Given the description of an element on the screen output the (x, y) to click on. 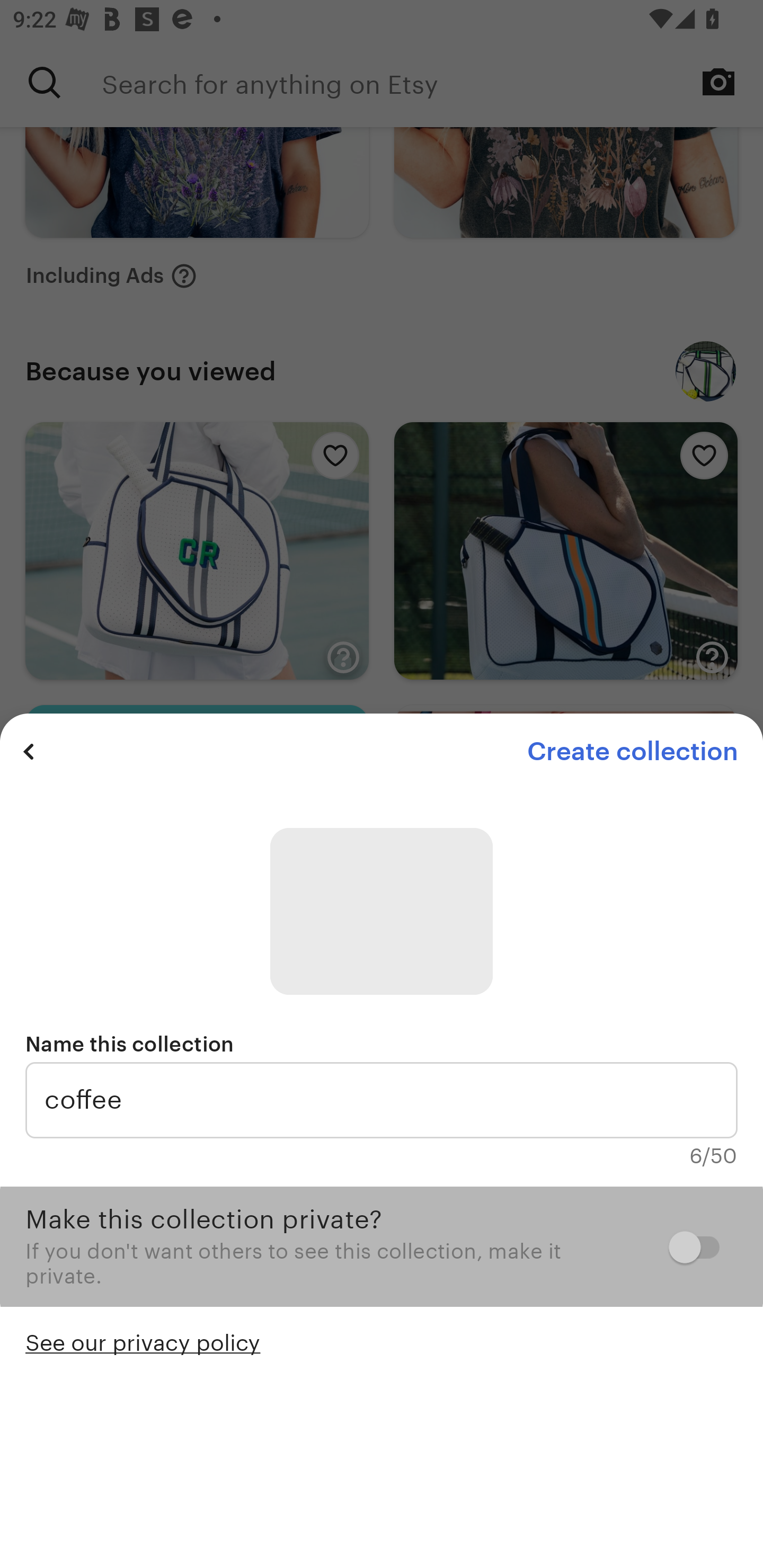
Previous (28, 751)
Create collection (632, 751)
coffee (381, 1099)
See our privacy policy (142, 1341)
